Given the description of an element on the screen output the (x, y) to click on. 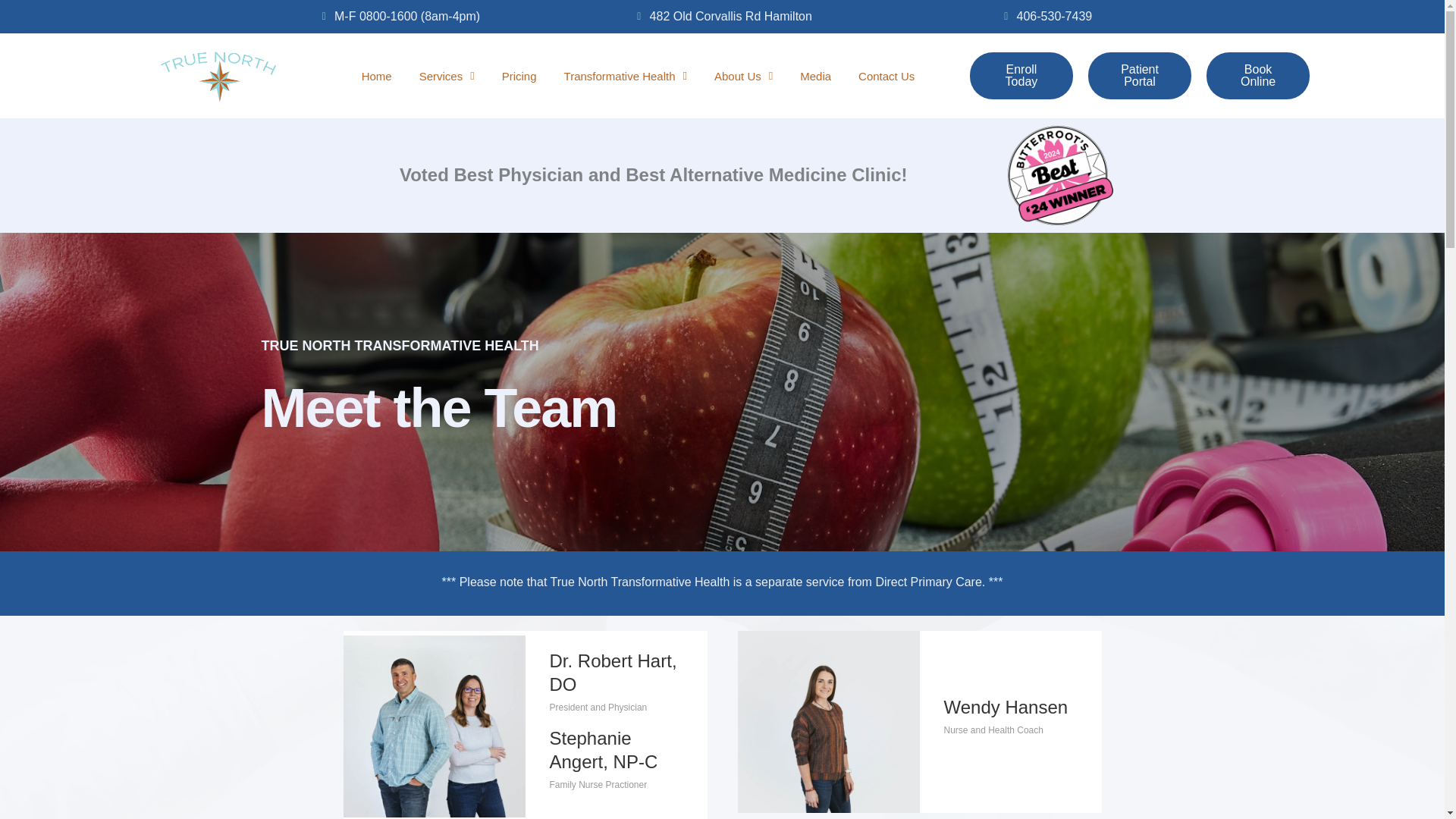
Transformative Health (625, 76)
Pricing (519, 76)
About Us (743, 76)
Contact Us (886, 76)
Wendy (827, 721)
Services (446, 76)
